Given the description of an element on the screen output the (x, y) to click on. 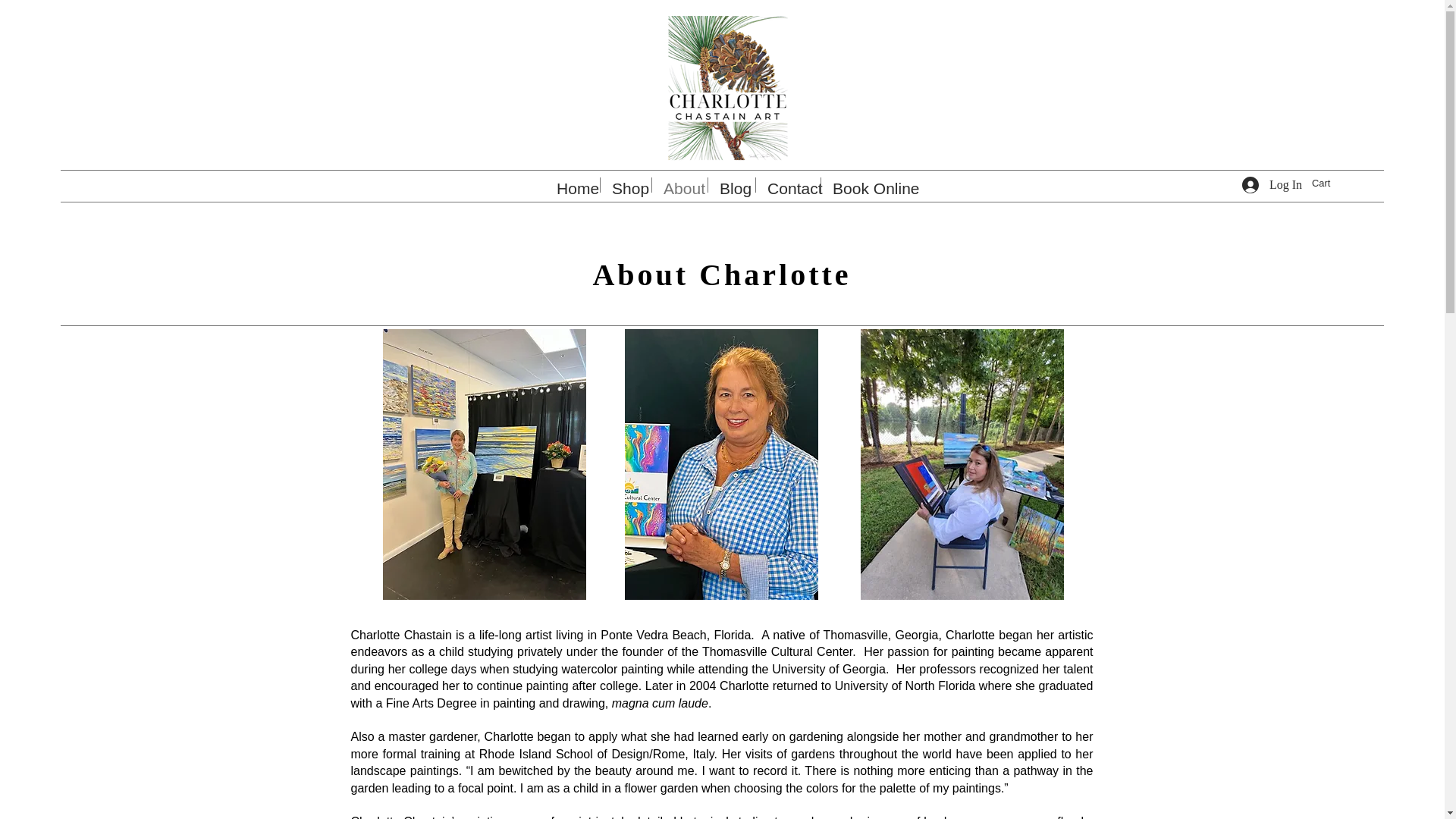
About (679, 184)
Cart (1328, 183)
Shop (624, 184)
Blog (731, 184)
Contact (788, 184)
Log In (1272, 184)
Home (571, 184)
Book Online (865, 184)
Cart (1328, 183)
